Given the description of an element on the screen output the (x, y) to click on. 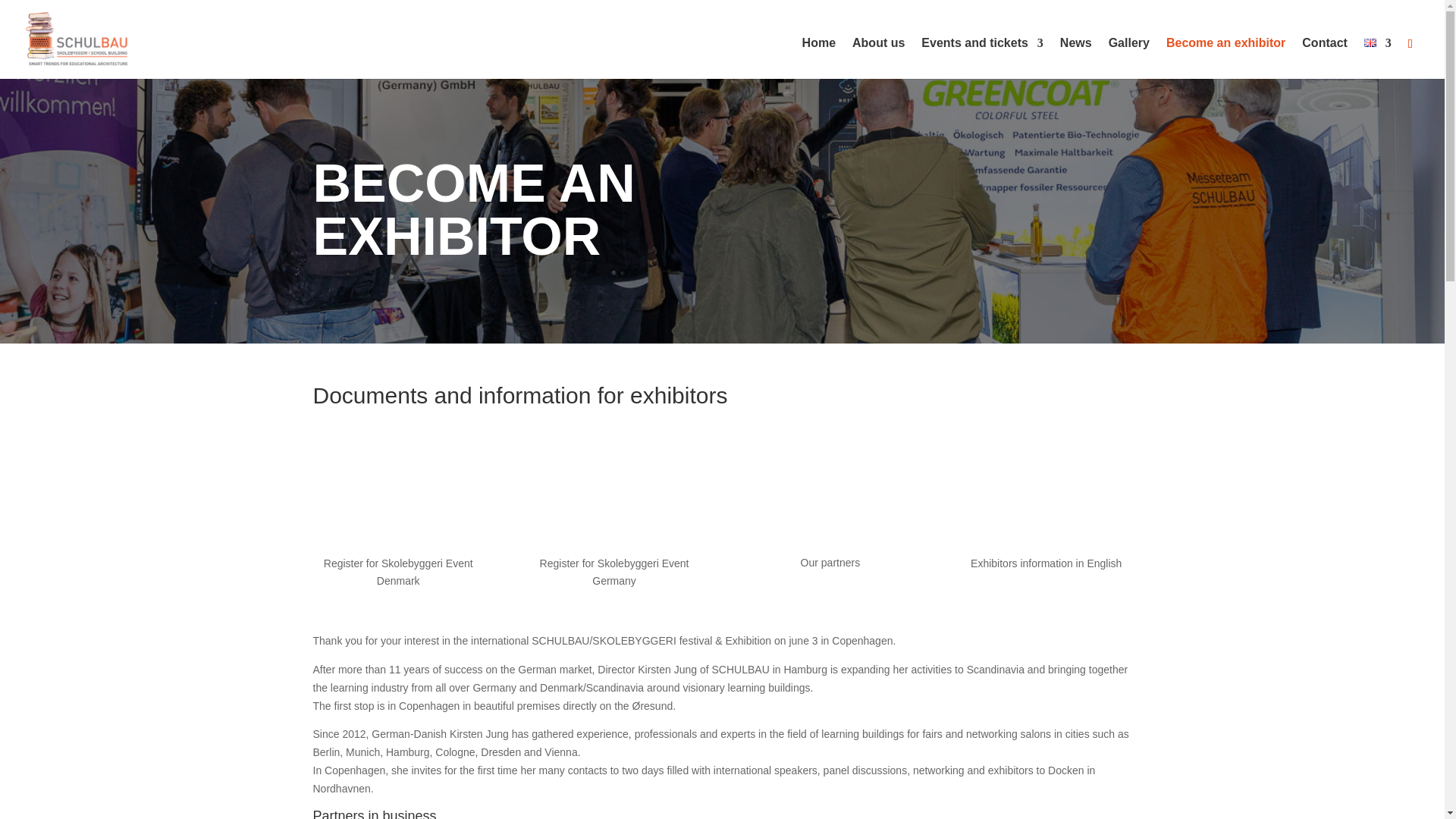
Contact (1324, 57)
About us (877, 57)
Home (818, 57)
News (1075, 57)
Gallery (1129, 57)
Events and tickets (982, 57)
Become an exhibitor (1225, 57)
